Given the description of an element on the screen output the (x, y) to click on. 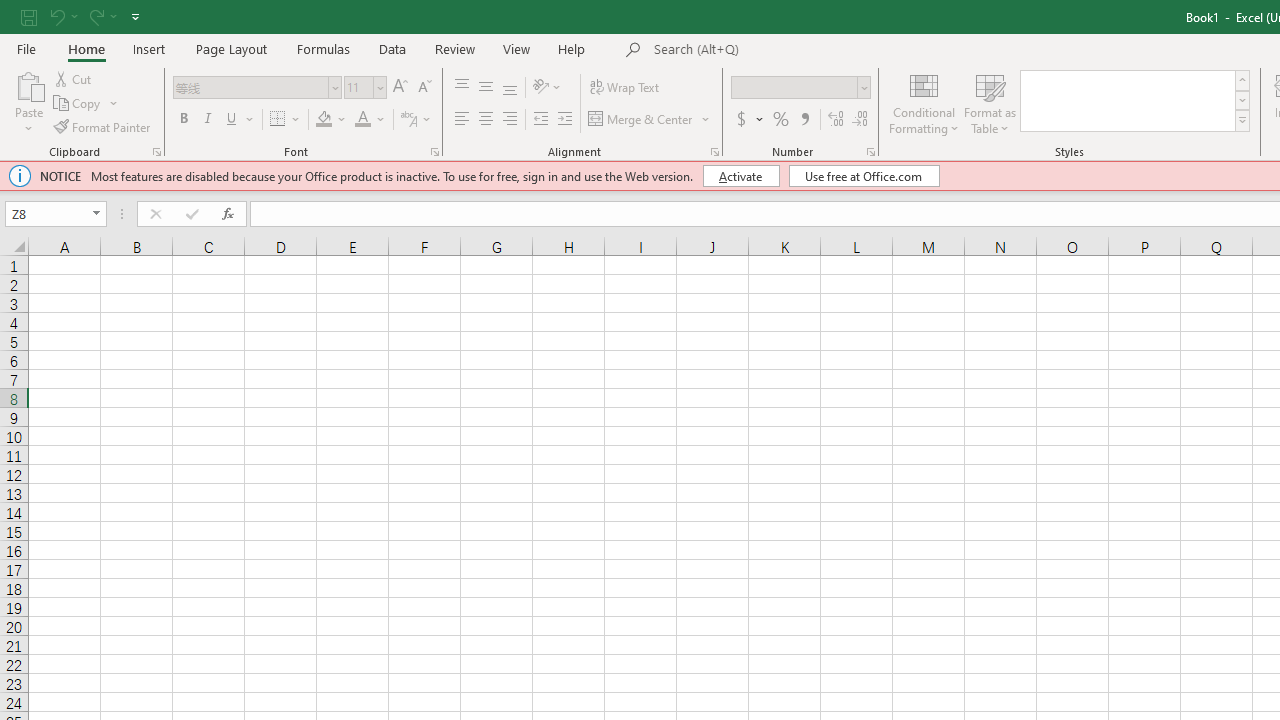
Wrap Text (624, 87)
Decrease Font Size (424, 87)
AutomationID: CellStylesGallery (1135, 100)
